Given the description of an element on the screen output the (x, y) to click on. 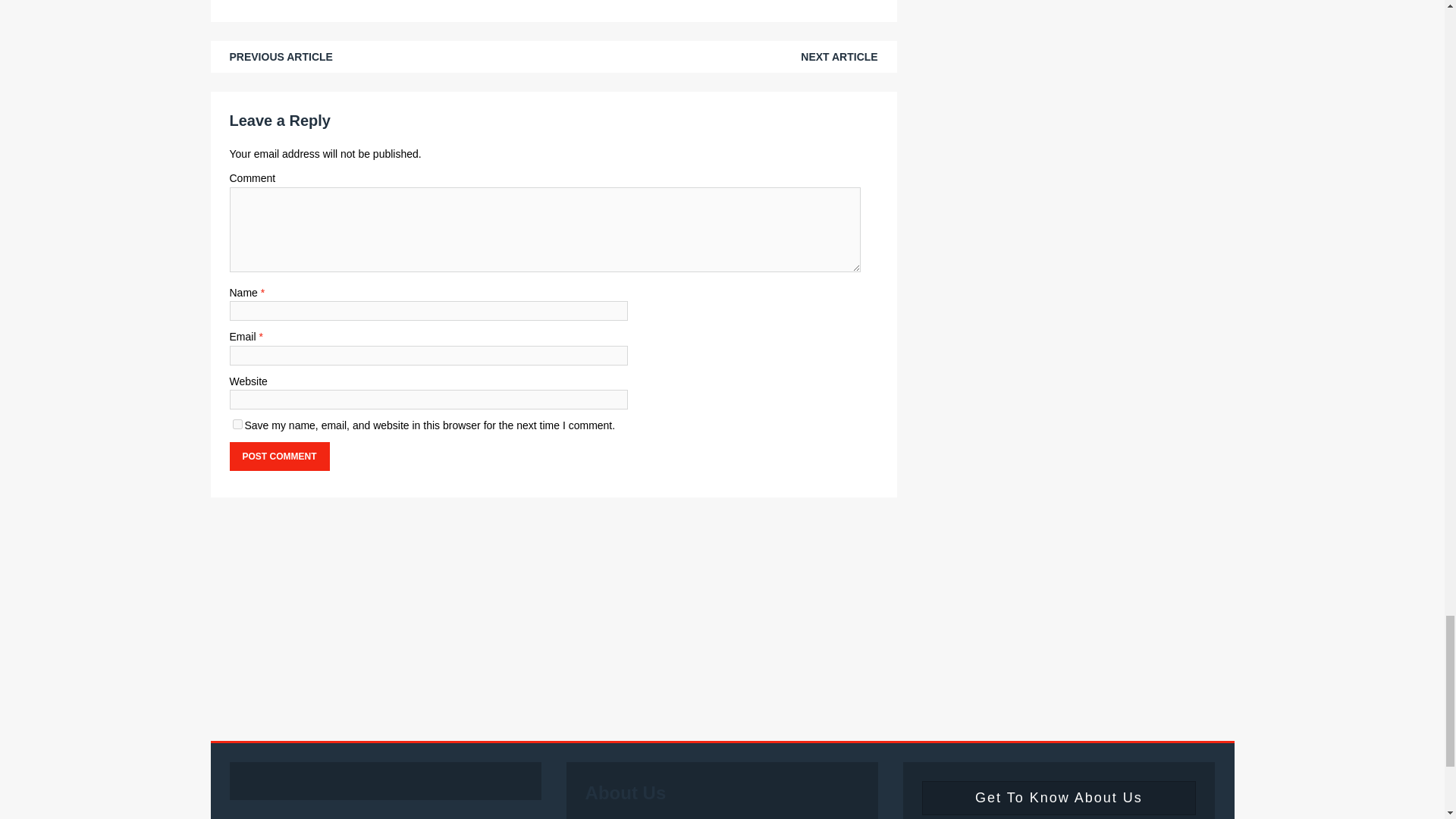
yes (236, 424)
Post Comment (278, 456)
PREVIOUS ARTICLE (279, 56)
NEXT ARTICLE (838, 56)
Post Comment (278, 456)
